Given the description of an element on the screen output the (x, y) to click on. 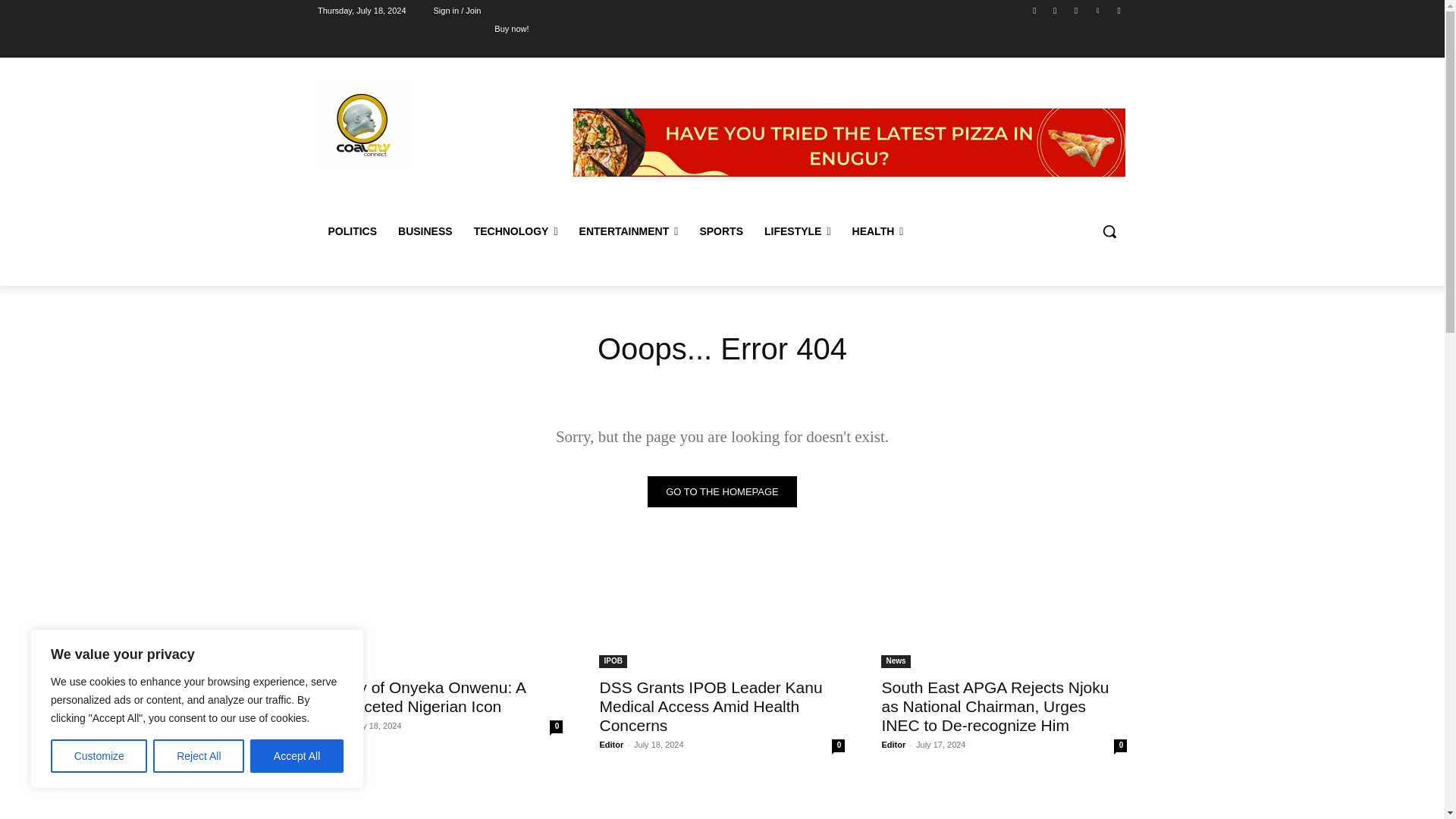
Twitter (1075, 9)
Vimeo (1097, 9)
Facebook (1034, 9)
TECHNOLOGY (516, 230)
Reject All (198, 756)
Buy now! (511, 28)
Customize (98, 756)
BUSINESS (425, 230)
Accept All (296, 756)
Youtube (1117, 9)
POLITICS (352, 230)
Instagram (1055, 9)
